Given the description of an element on the screen output the (x, y) to click on. 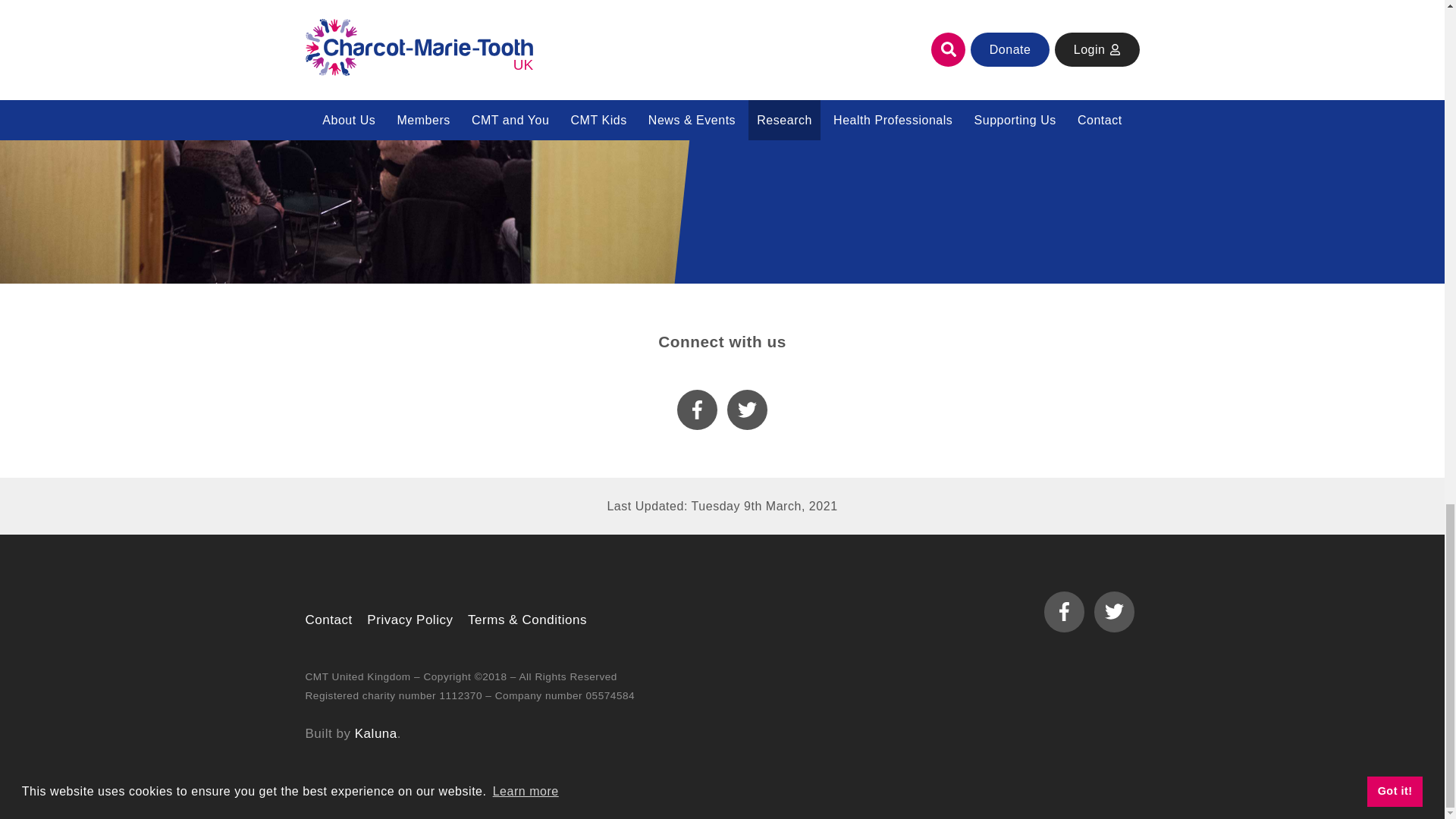
Follow us on Facebook (697, 409)
Follow us on Twitter (747, 409)
Find out more (954, 121)
